Given the description of an element on the screen output the (x, y) to click on. 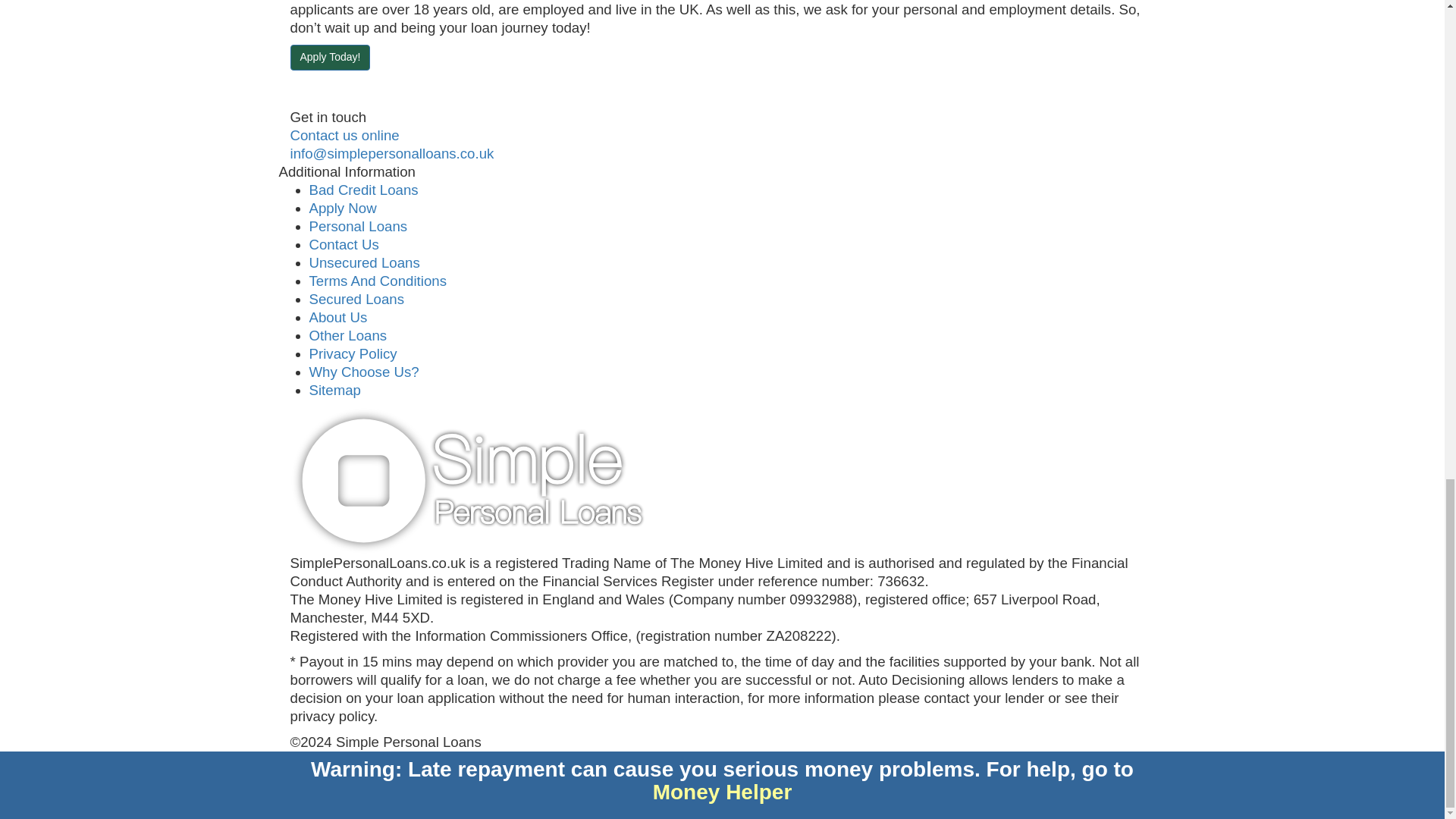
Bad Credit Loans (363, 189)
Other Loans (347, 335)
Personal Loans (357, 226)
Apply Today! (329, 57)
About Us (338, 317)
Sitemap (334, 390)
Simple Personal Loans (467, 480)
Privacy Policy (352, 353)
Why Choose Us? (363, 371)
Money Helper (722, 791)
